Given the description of an element on the screen output the (x, y) to click on. 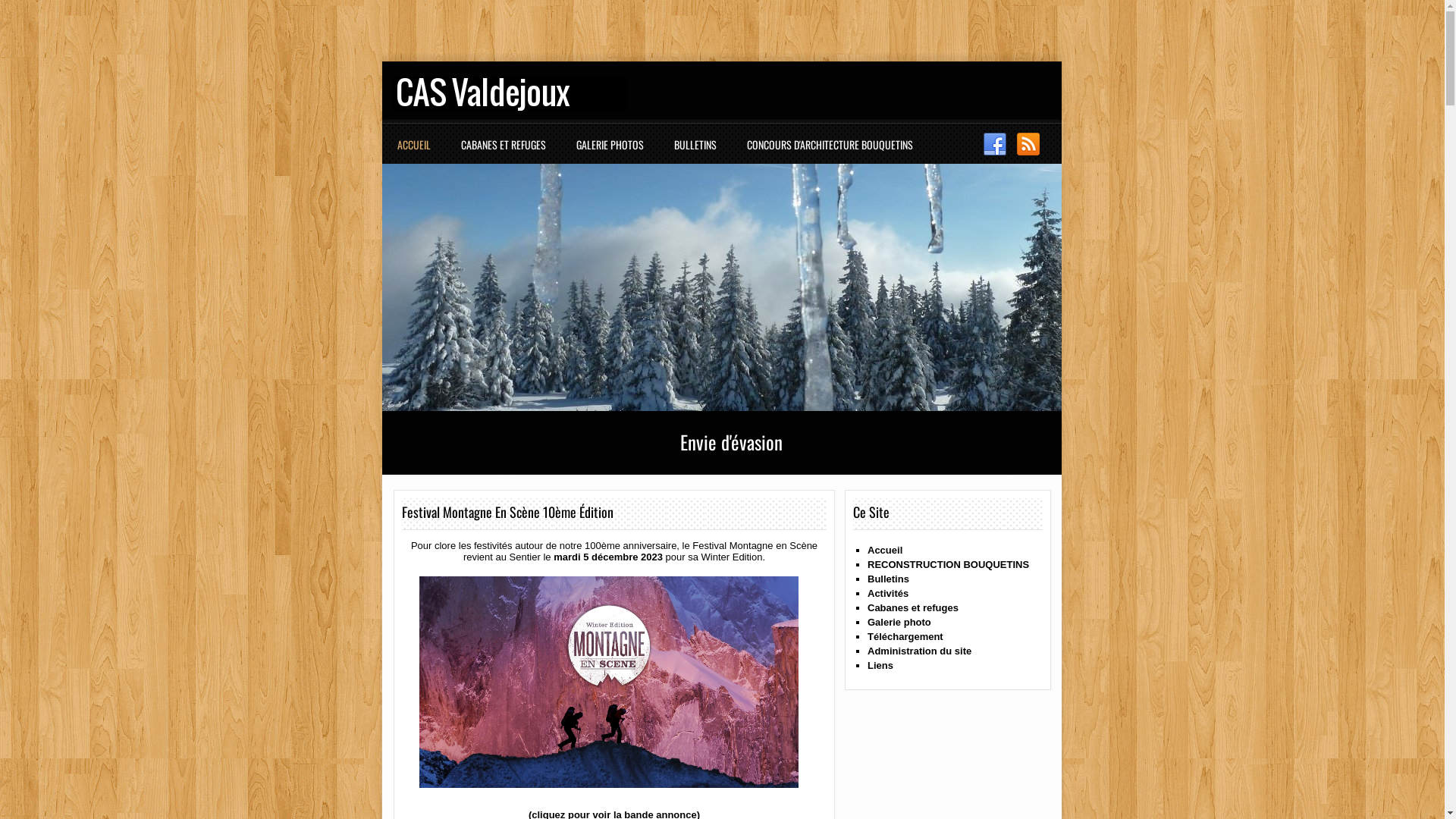
Galerie photo Element type: text (899, 621)
CABANES ET REFUGES Element type: text (507, 151)
BULLETINS Element type: text (699, 151)
ACCUEIL Element type: text (417, 151)
GALERIE PHOTOS Element type: text (613, 151)
Bulletins Element type: text (888, 578)
RECONSTRUCTION BOUQUETINS Element type: text (948, 564)
Accueil Element type: text (884, 549)
Liens Element type: text (880, 665)
Administration du site Element type: text (919, 650)
CONCOURS D'ARCHITECTURE BOUQUETINS Element type: text (833, 151)
Cabanes et refuges Element type: text (912, 607)
